Given the description of an element on the screen output the (x, y) to click on. 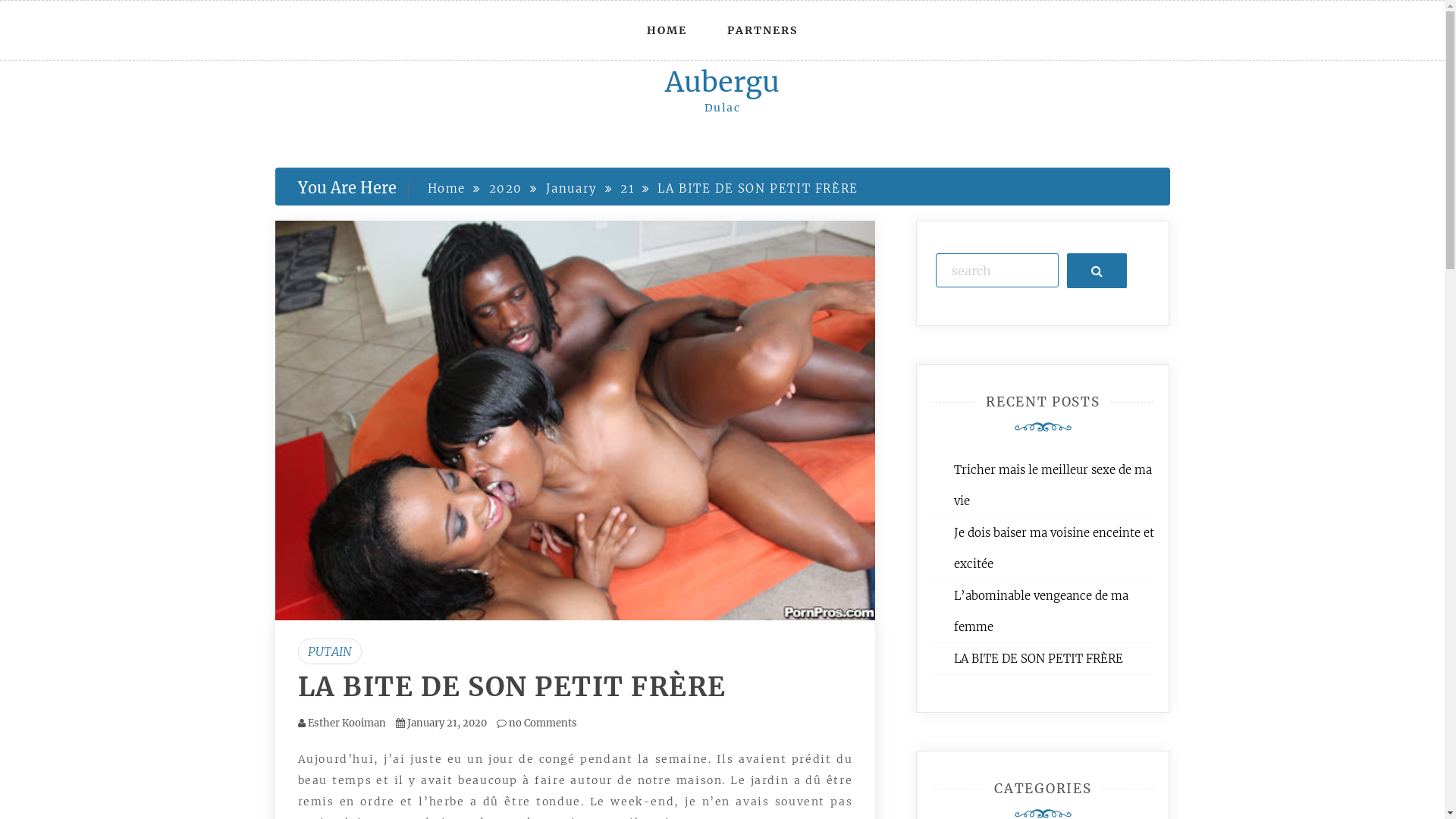
Search Element type: text (1096, 270)
2020 Element type: text (505, 188)
January 21, 2020 Element type: text (446, 722)
Home Element type: text (446, 188)
no Comments Element type: text (535, 722)
PARTNERS Element type: text (762, 29)
January Element type: text (571, 188)
HOME Element type: text (666, 29)
21 Element type: text (626, 188)
Aubergu Element type: text (722, 82)
Tricher mais le meilleur sexe de ma vie Element type: text (1052, 485)
Esther Kooiman Element type: text (346, 722)
PUTAIN Element type: text (328, 651)
